Given the description of an element on the screen output the (x, y) to click on. 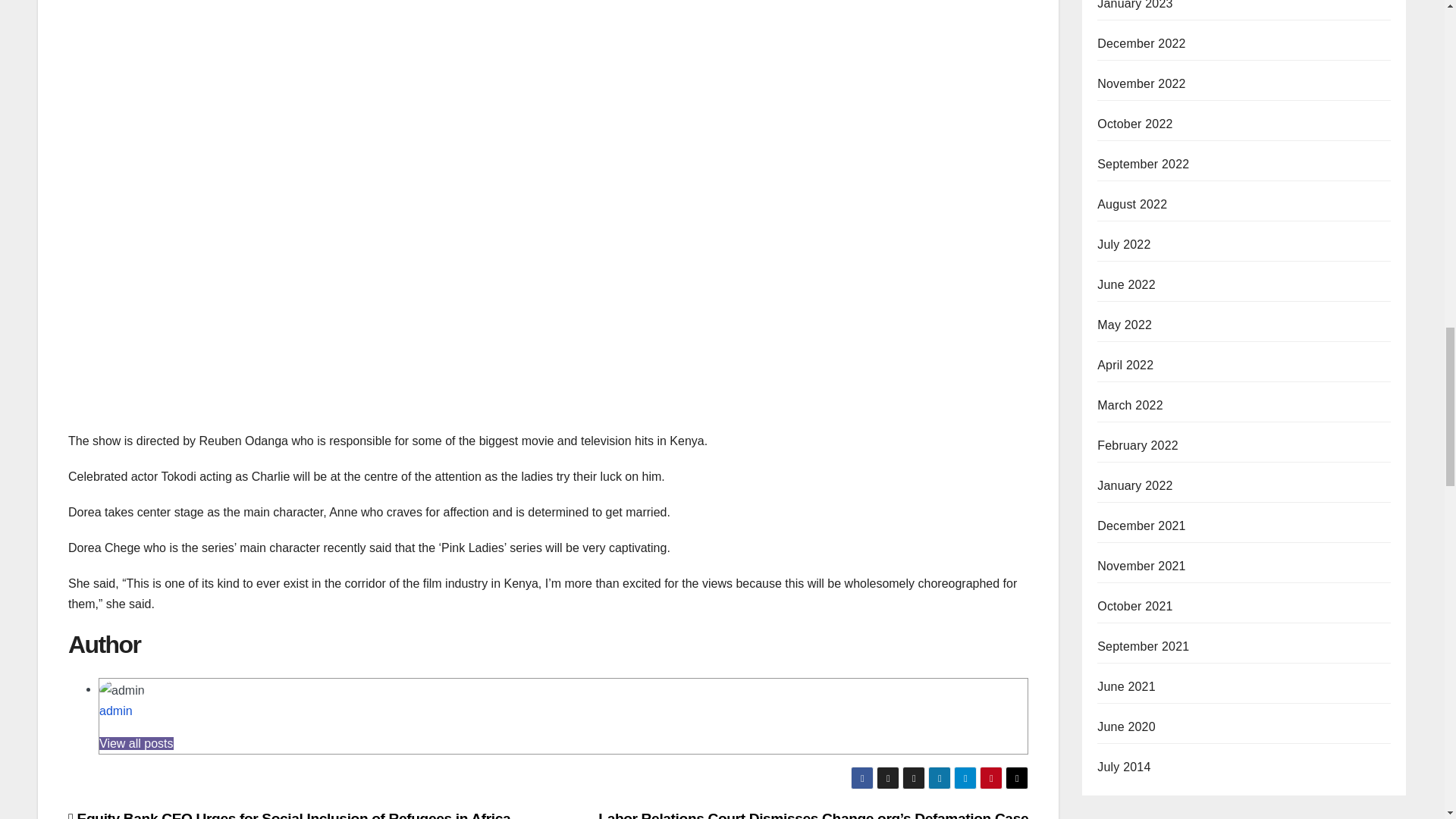
View all posts (136, 743)
View all posts (136, 743)
admin (115, 710)
admin (115, 710)
